Given the description of an element on the screen output the (x, y) to click on. 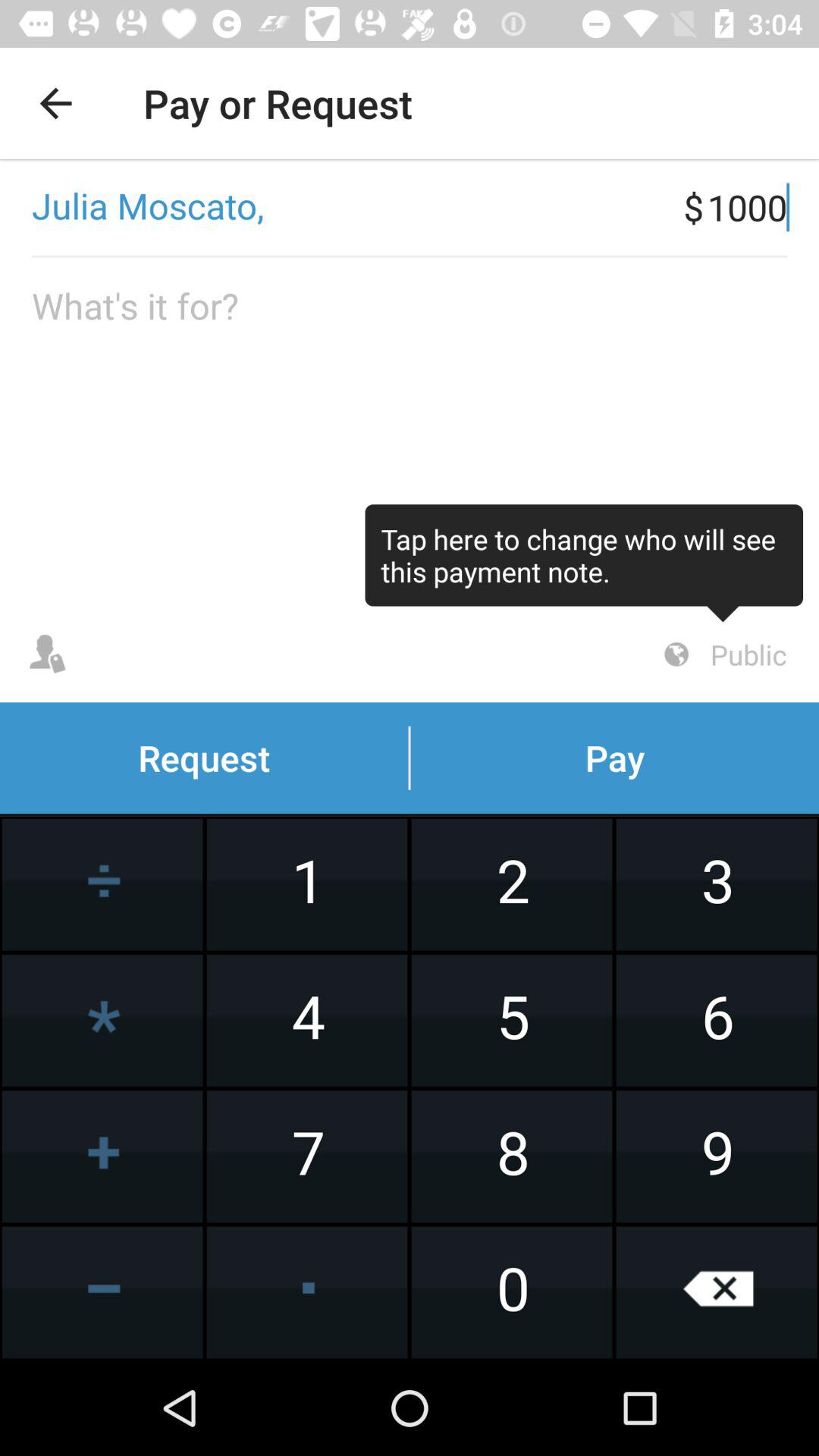
select item above pay (722, 654)
